Given the description of an element on the screen output the (x, y) to click on. 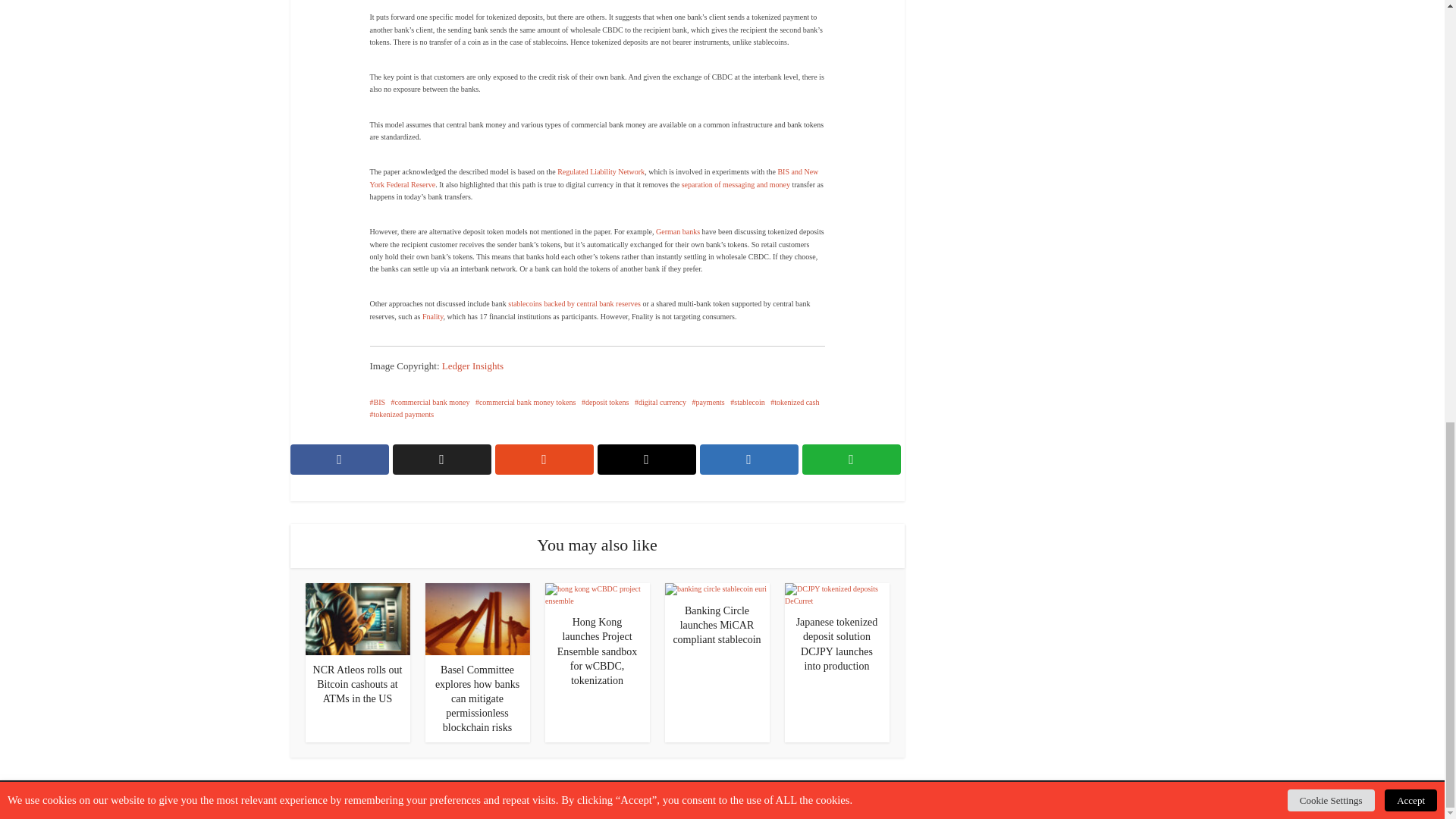
Banking Circle launches MiCAR compliant stablecoin (716, 625)
NCR Atleos rolls out Bitcoin cashouts at ATMs in the US (356, 618)
Banking Circle launches MiCAR compliant stablecoin (714, 588)
NCR Atleos rolls out Bitcoin cashouts at ATMs in the US (358, 684)
